Given the description of an element on the screen output the (x, y) to click on. 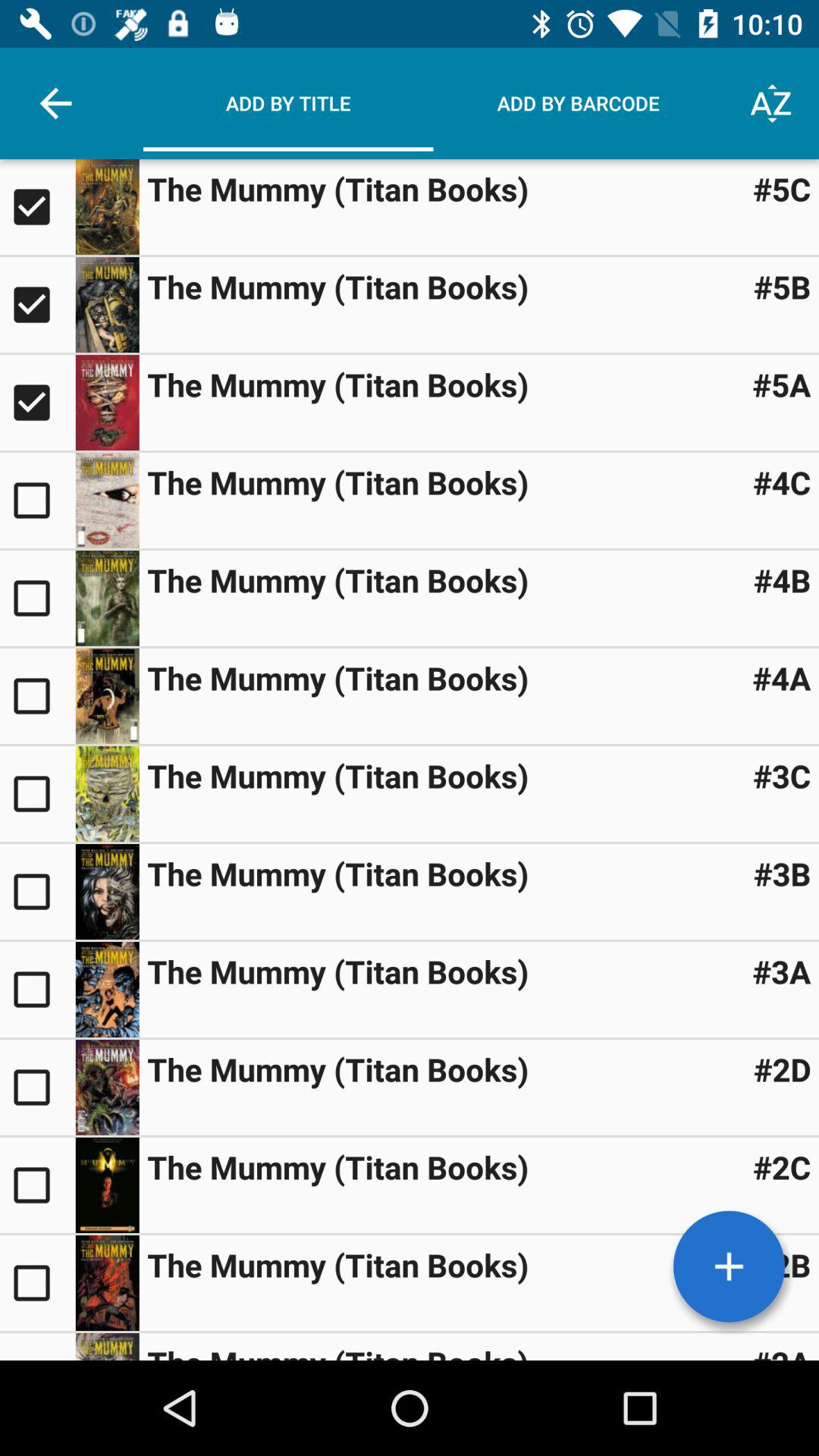
adds book (37, 695)
